Given the description of an element on the screen output the (x, y) to click on. 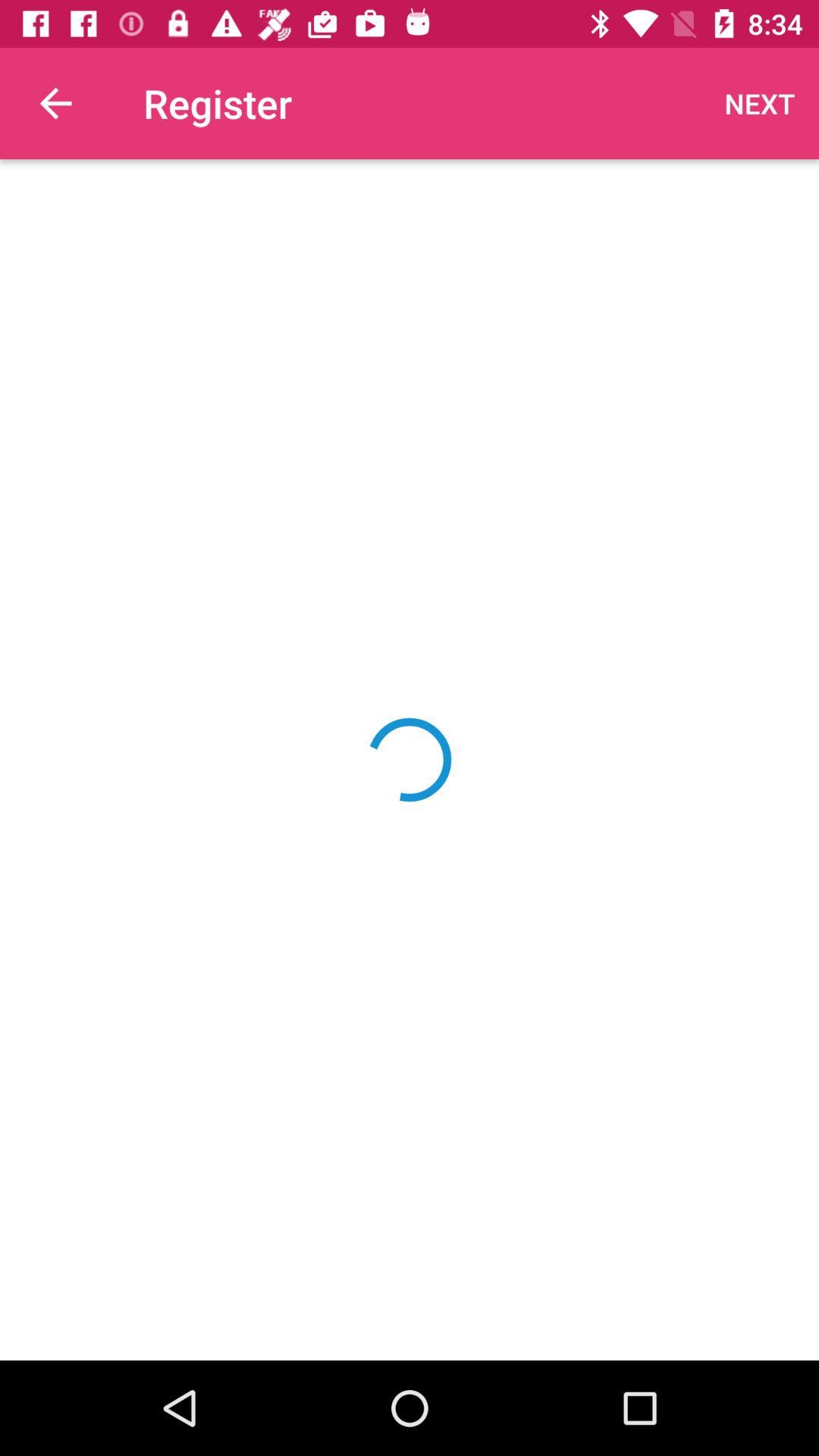
click the item next to the register (55, 103)
